Given the description of an element on the screen output the (x, y) to click on. 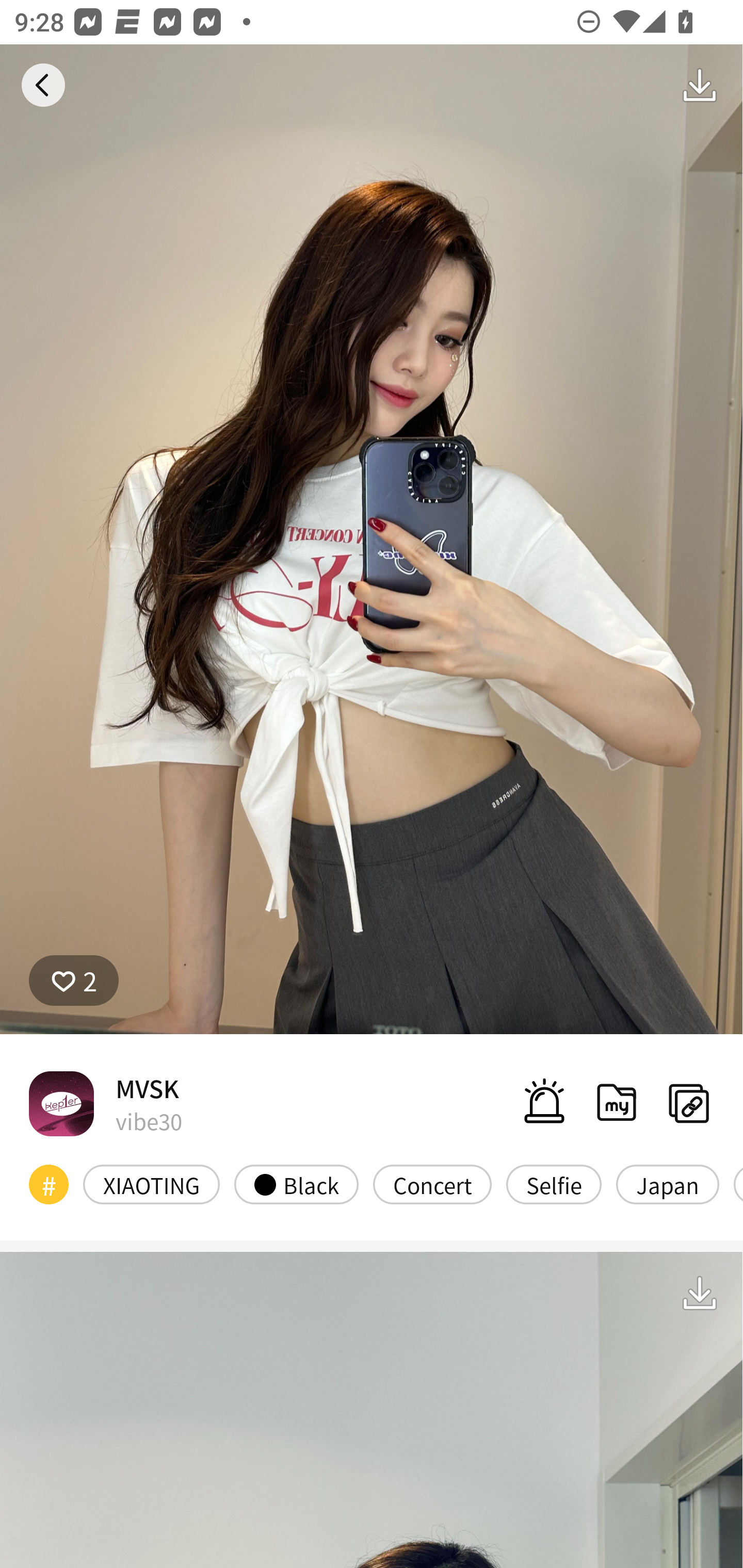
2 (73, 980)
MVSK vibe30 (105, 1102)
XIAOTING (151, 1184)
Black (296, 1184)
Concert (431, 1184)
Selfie (553, 1184)
Japan (667, 1184)
